Given the description of an element on the screen output the (x, y) to click on. 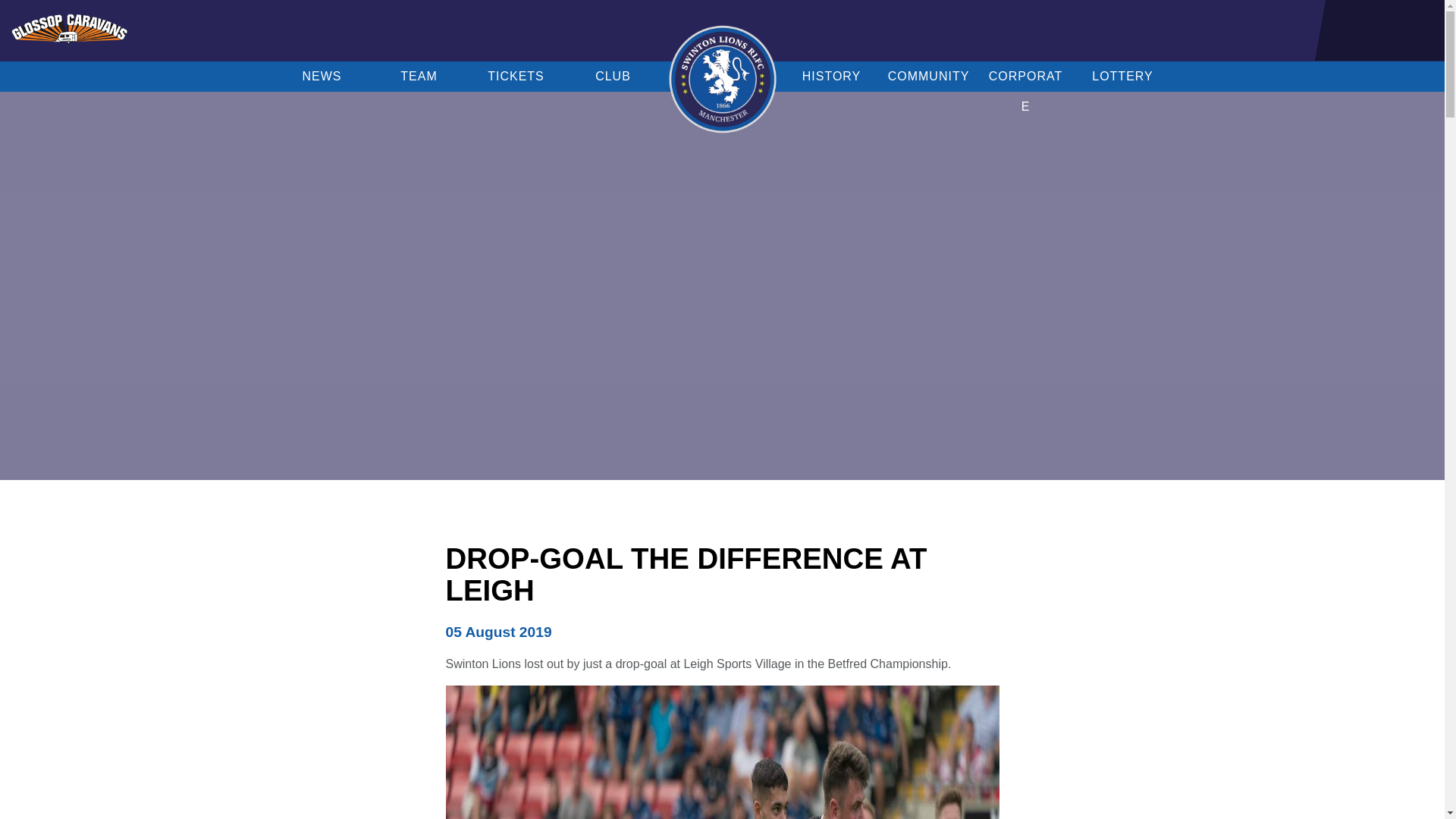
TICKETS (515, 76)
NEWS (321, 76)
TEAM (418, 76)
LOTTERY (1122, 76)
COMMUNITY (927, 76)
HISTORY (831, 76)
CLUB (612, 76)
CORPORATE (1025, 76)
